Given the description of an element on the screen output the (x, y) to click on. 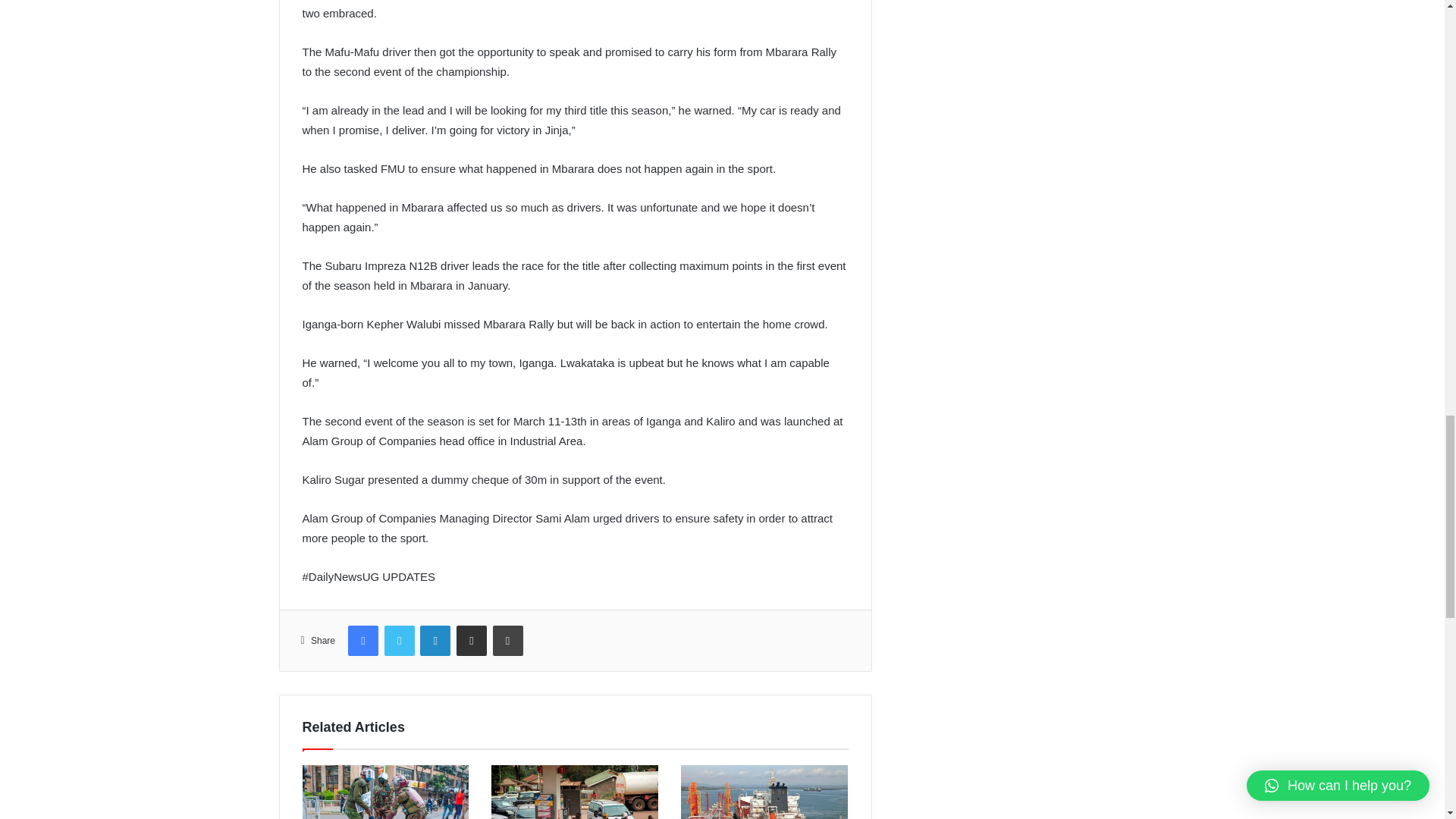
LinkedIn (434, 640)
Share via Email (471, 640)
Facebook (362, 640)
Print (507, 640)
Print (507, 640)
Twitter (399, 640)
Share via Email (471, 640)
Facebook (362, 640)
Twitter (399, 640)
LinkedIn (434, 640)
